Given the description of an element on the screen output the (x, y) to click on. 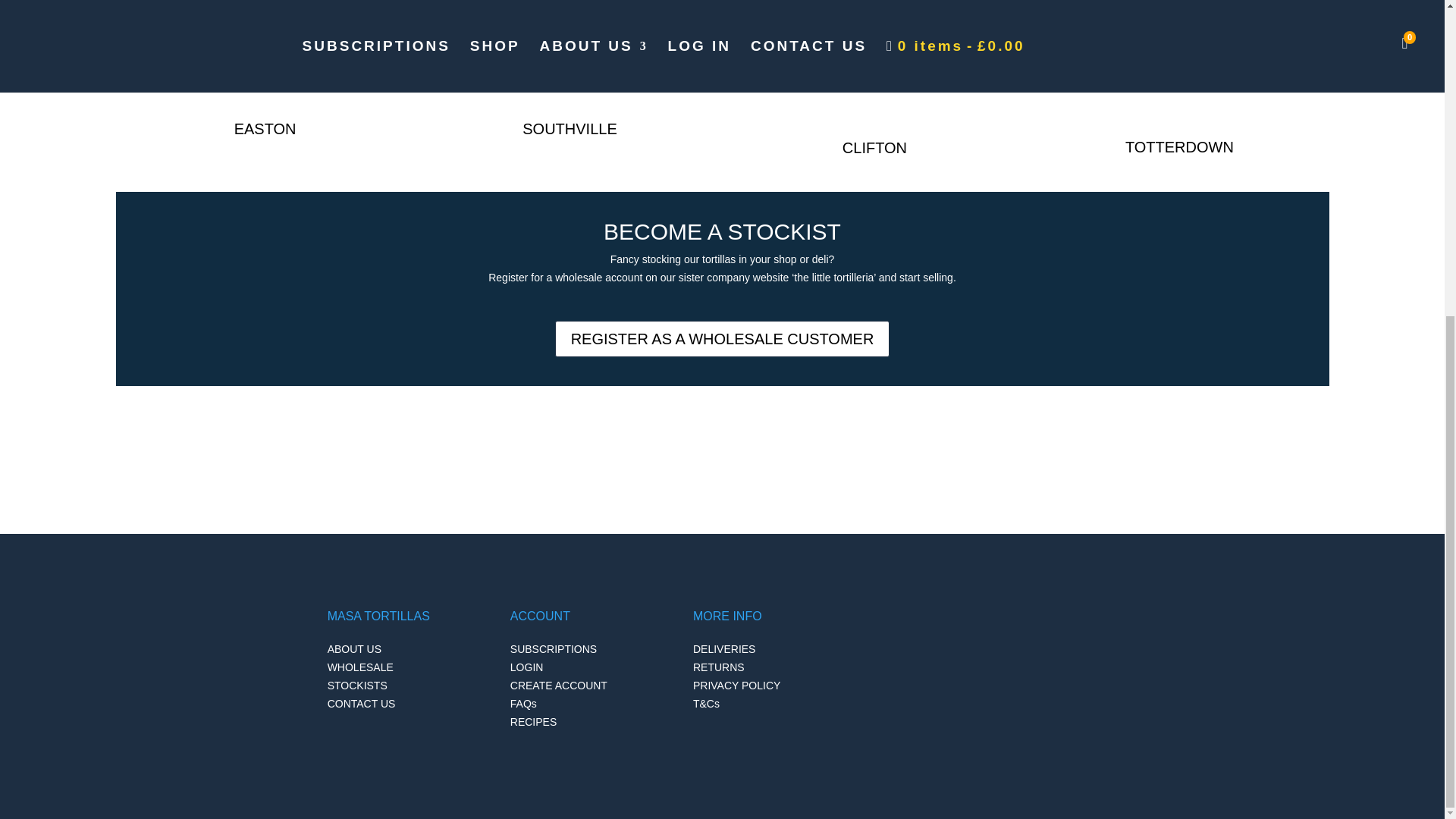
WHOLESALE (360, 666)
otomi logo (874, 75)
ABOUT US (354, 648)
RECIPES (533, 721)
CREATE ACCOUNT (559, 685)
CONTACT US (361, 712)
SUBSCRIPTIONS (553, 648)
DELIVERIES (724, 648)
LOGIN (527, 666)
Public-Market-Logo (229, 66)
RETURNS (718, 666)
REGISTER AS A WHOLESALE CUSTOMER (721, 339)
banana-boat-logo (1179, 75)
FAQs (524, 703)
five-acre (534, 66)
